Given the description of an element on the screen output the (x, y) to click on. 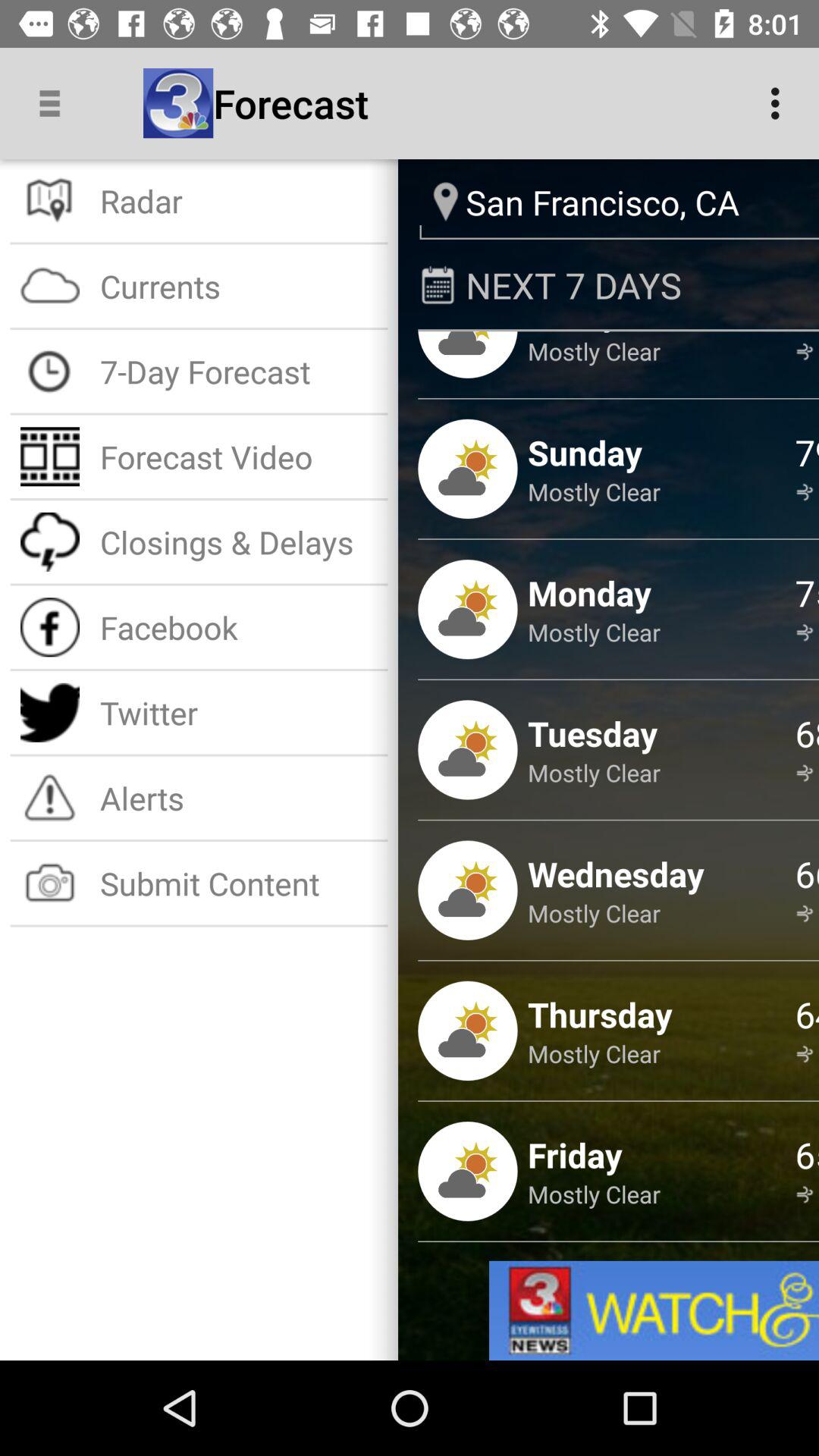
view advertisement (654, 1310)
